Given the description of an element on the screen output the (x, y) to click on. 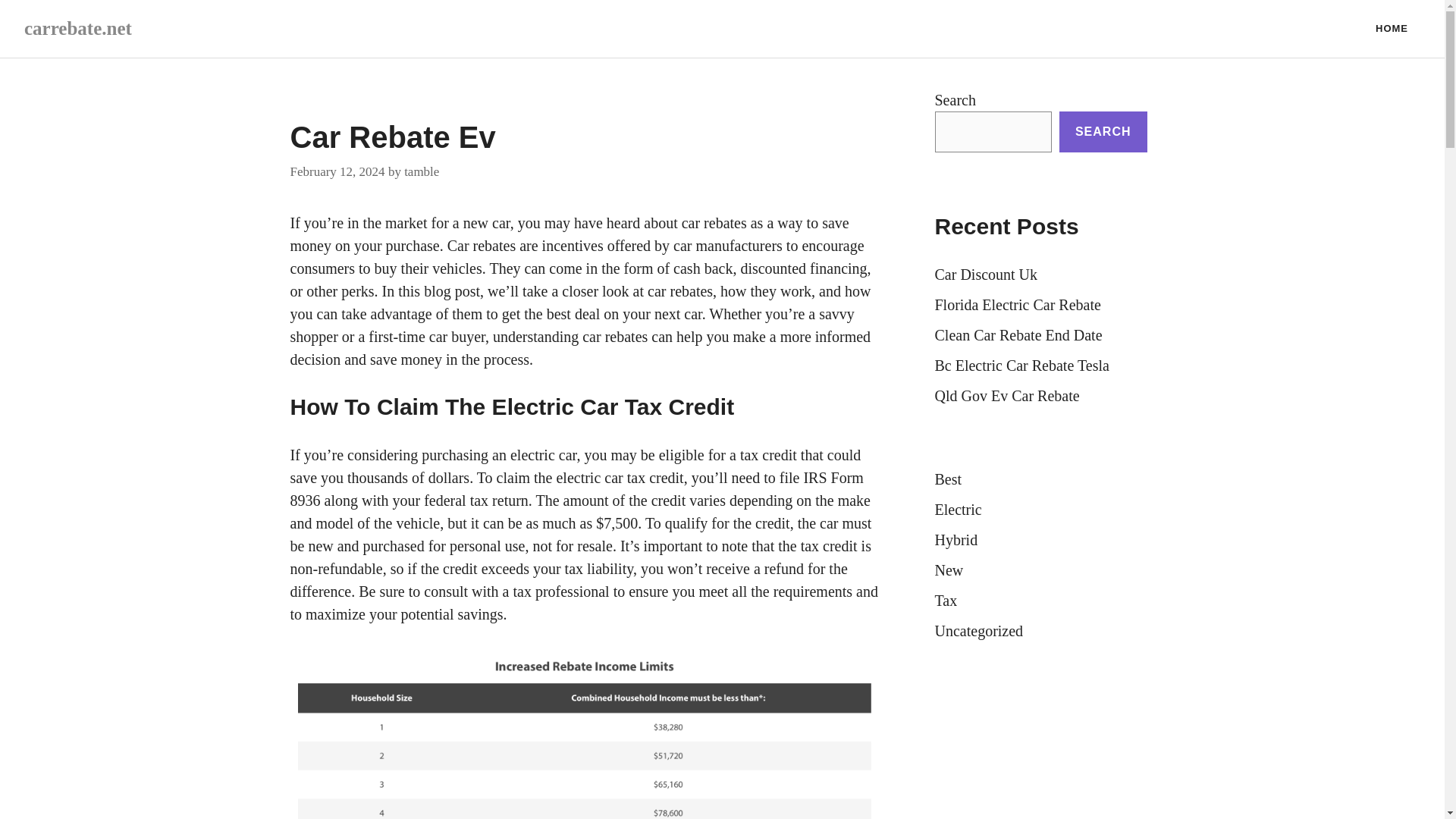
Clean Car Rebate End Date (1018, 334)
tamble (421, 170)
Qld Gov Ev Car Rebate (1006, 395)
Uncategorized (978, 630)
Hybrid (955, 539)
Tax (945, 600)
Florida Electric Car Rebate (1017, 304)
View all posts by tamble (421, 170)
SEARCH (1103, 131)
carrebate.net (78, 28)
